Given the description of an element on the screen output the (x, y) to click on. 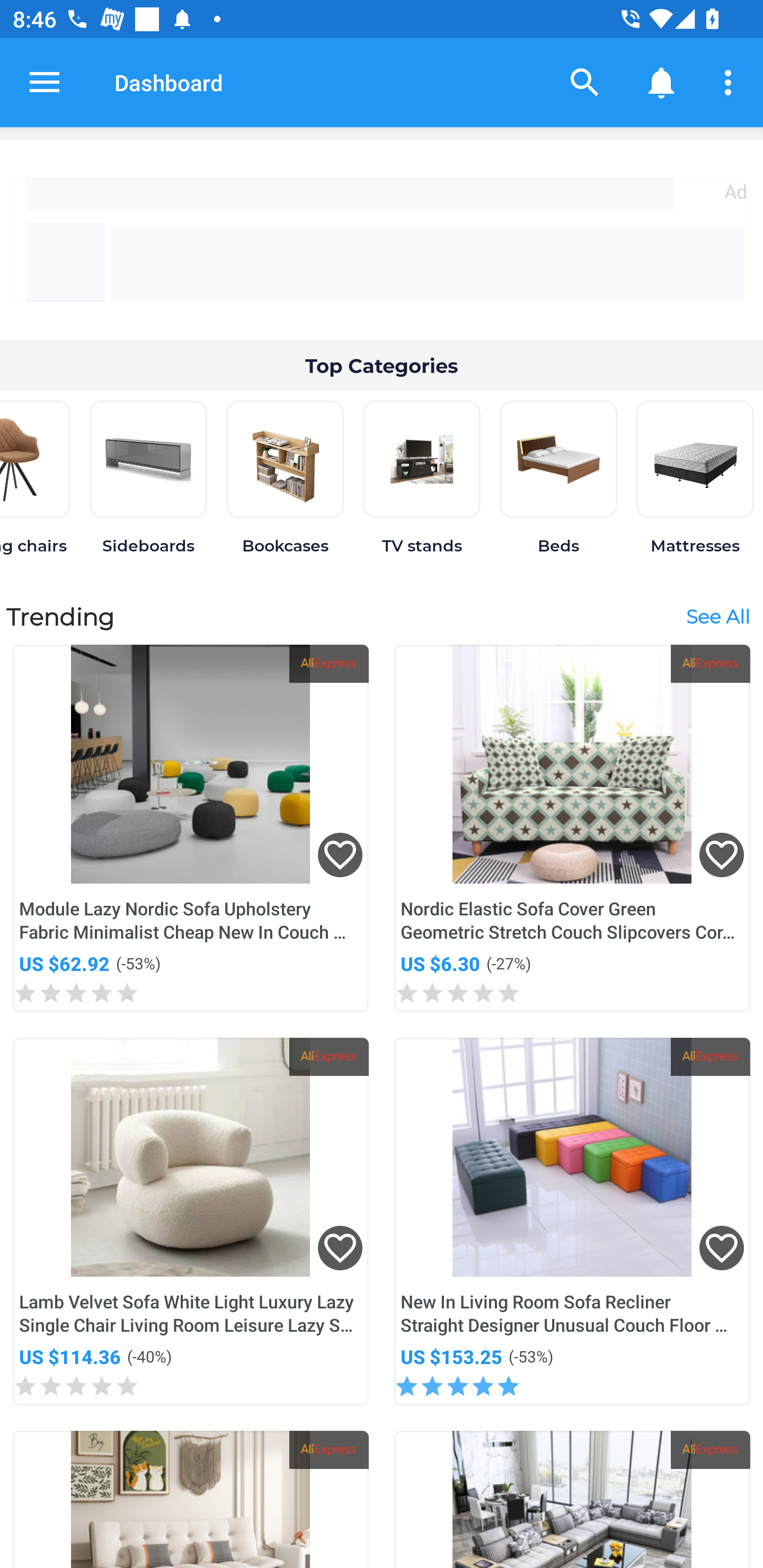
Open navigation drawer (44, 82)
Search (585, 81)
More options (731, 81)
See All (717, 615)
